Given the description of an element on the screen output the (x, y) to click on. 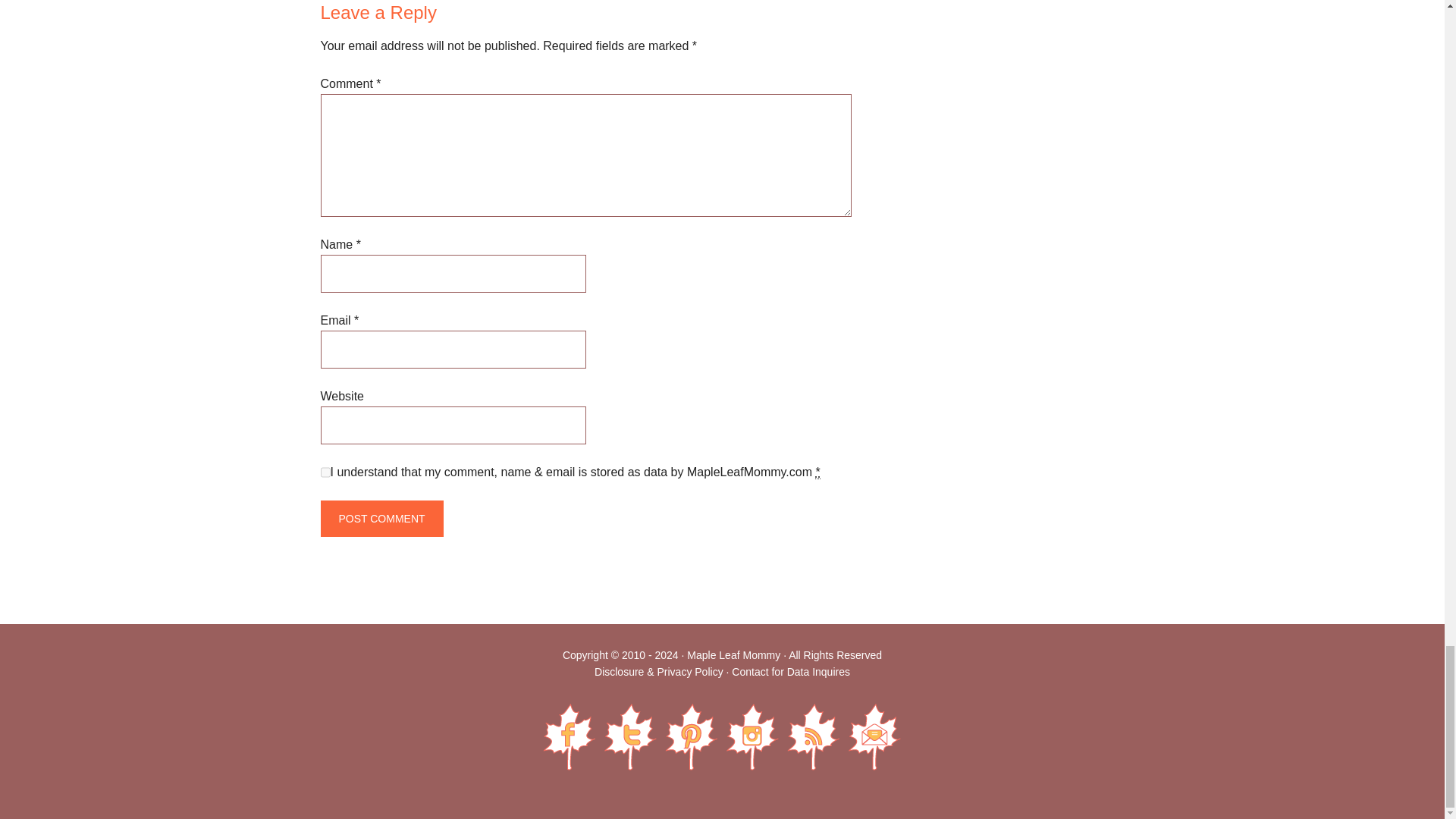
Post Comment (381, 518)
